Given the description of an element on the screen output the (x, y) to click on. 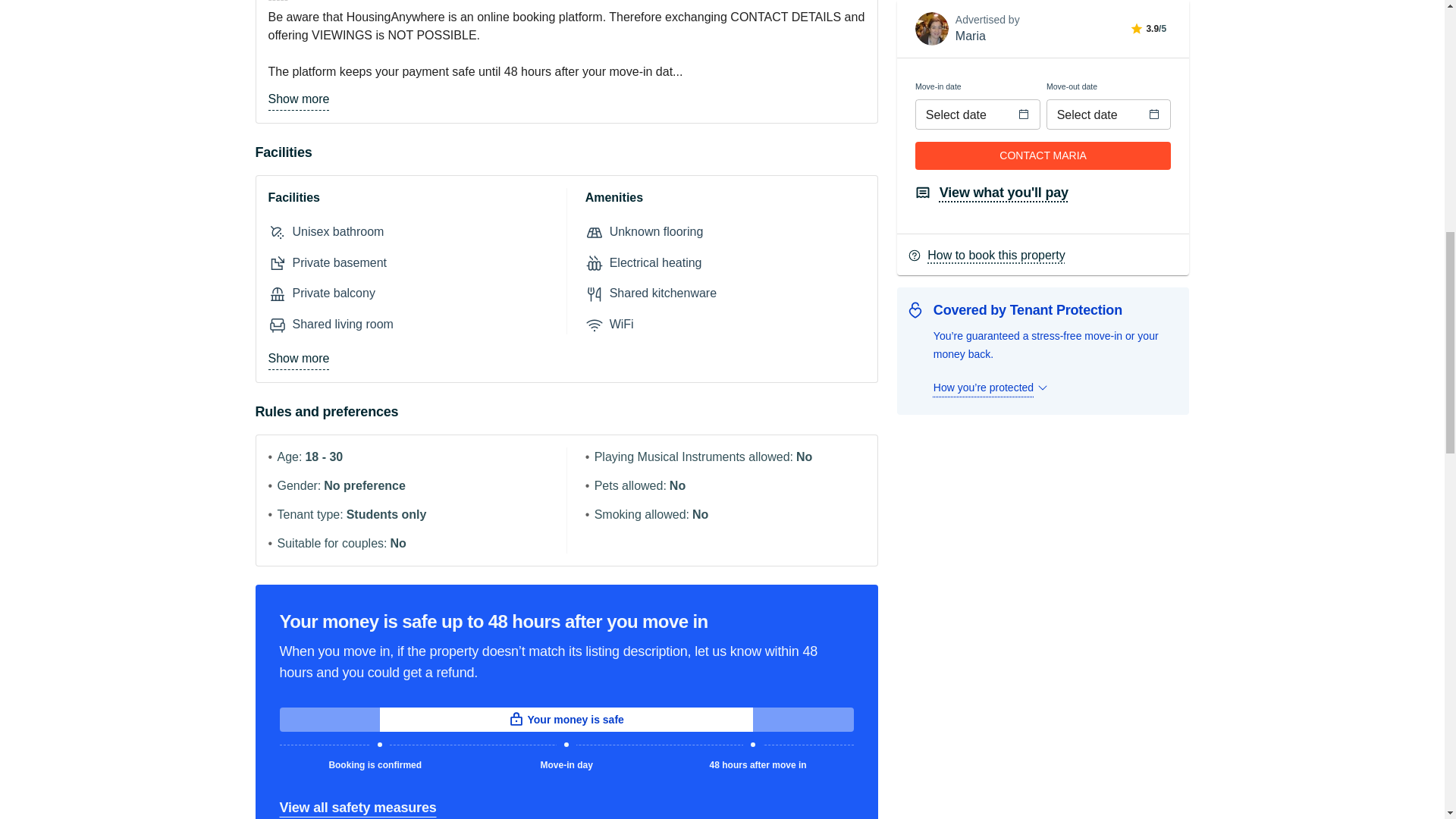
Show more (298, 99)
View all safety measures (357, 807)
Show more (298, 359)
